Given the description of an element on the screen output the (x, y) to click on. 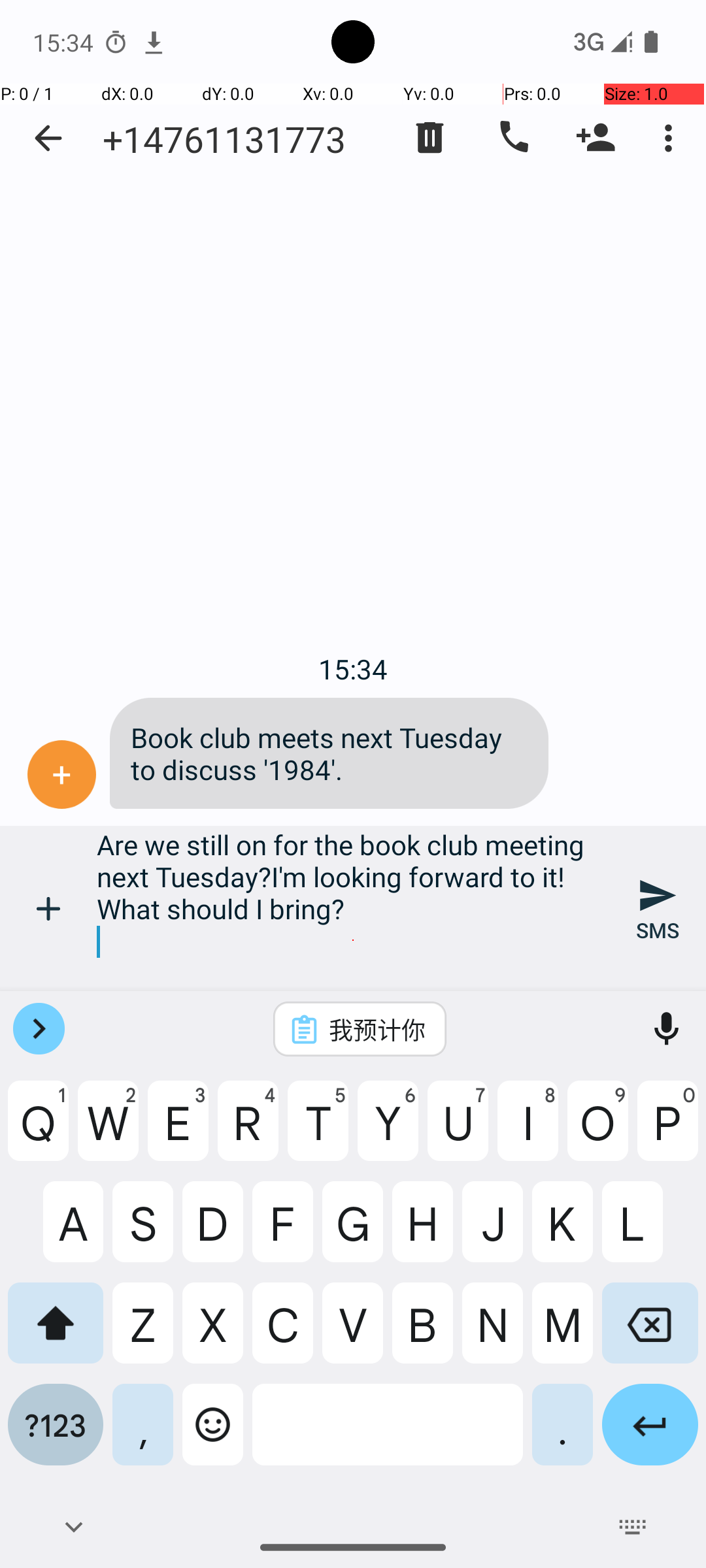
+14761131773 Element type: android.widget.TextView (223, 138)
Are we still on for the book club meeting next Tuesday?I'm looking forward to it! What should I bring?

 Element type: android.widget.EditText (352, 908)
我预计你 Element type: android.widget.TextView (376, 1028)
